Given the description of an element on the screen output the (x, y) to click on. 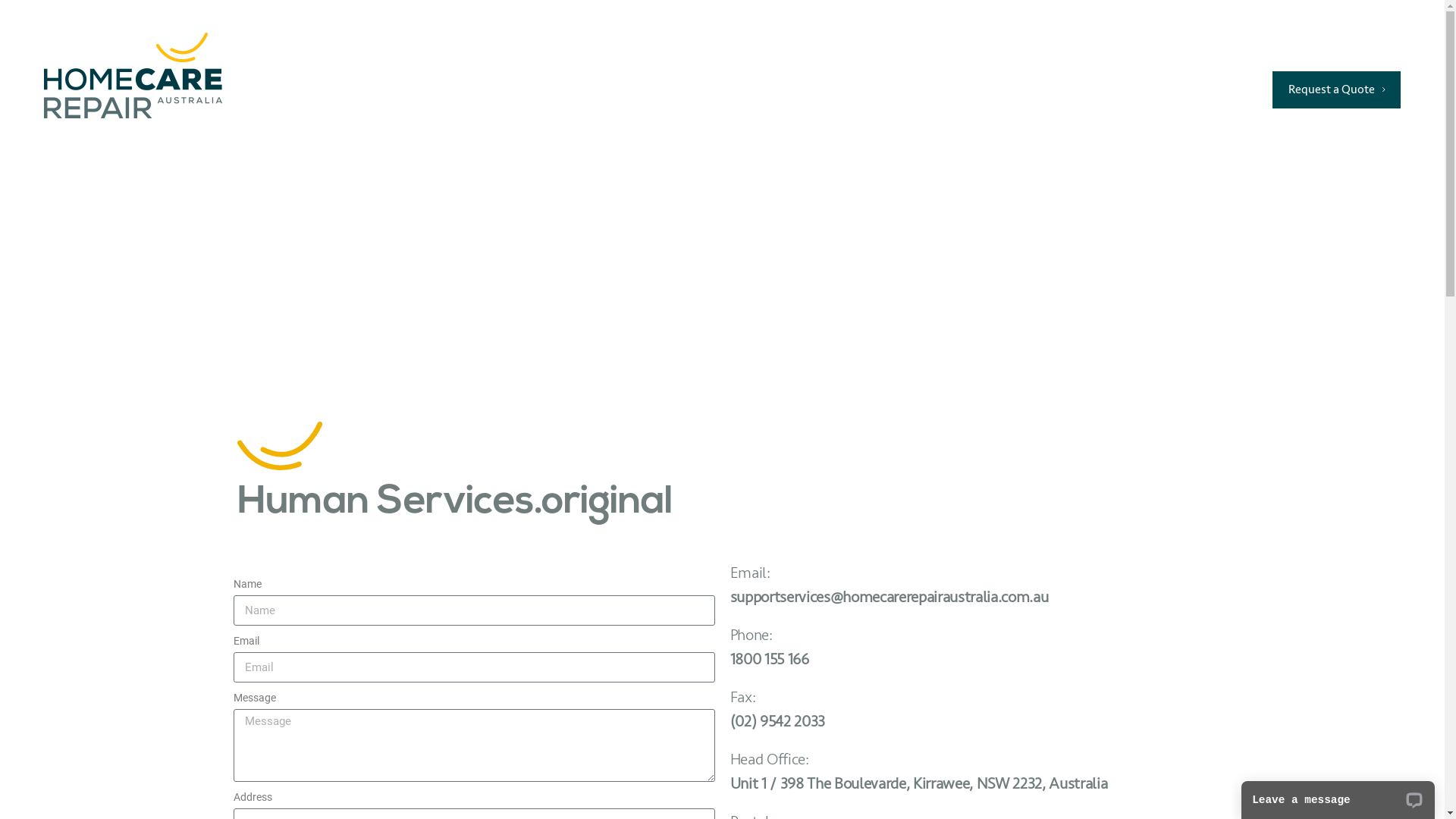
Contact Element type: text (1125, 88)
Log In Element type: text (1219, 89)
Portfolio Element type: text (819, 88)
About Us Element type: text (933, 88)
Services Element type: text (707, 88)
Request a Quote Element type: text (1336, 89)
1800 155 166 Element type: text (1317, 51)
Home Element type: text (610, 88)
News Element type: text (1032, 88)
